Given the description of an element on the screen output the (x, y) to click on. 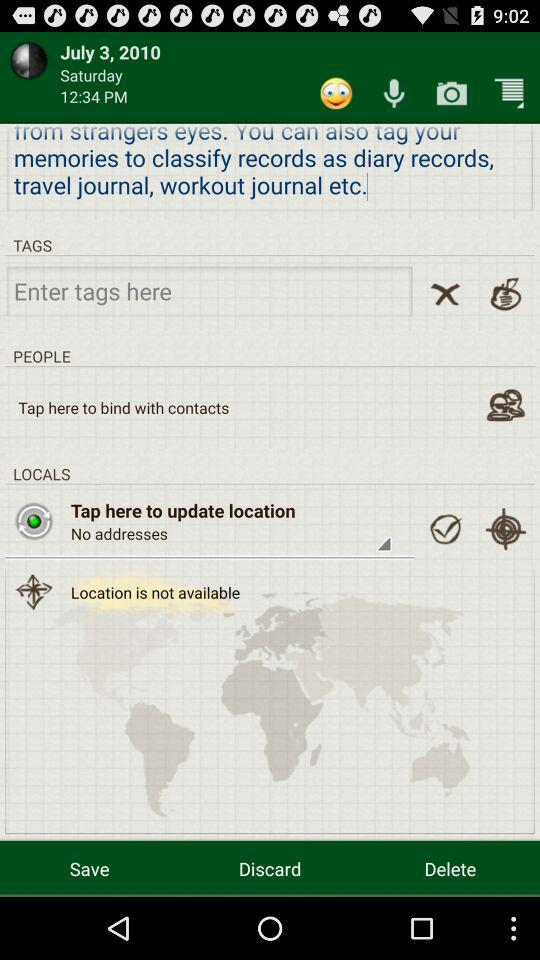
open options list (509, 92)
